Given the description of an element on the screen output the (x, y) to click on. 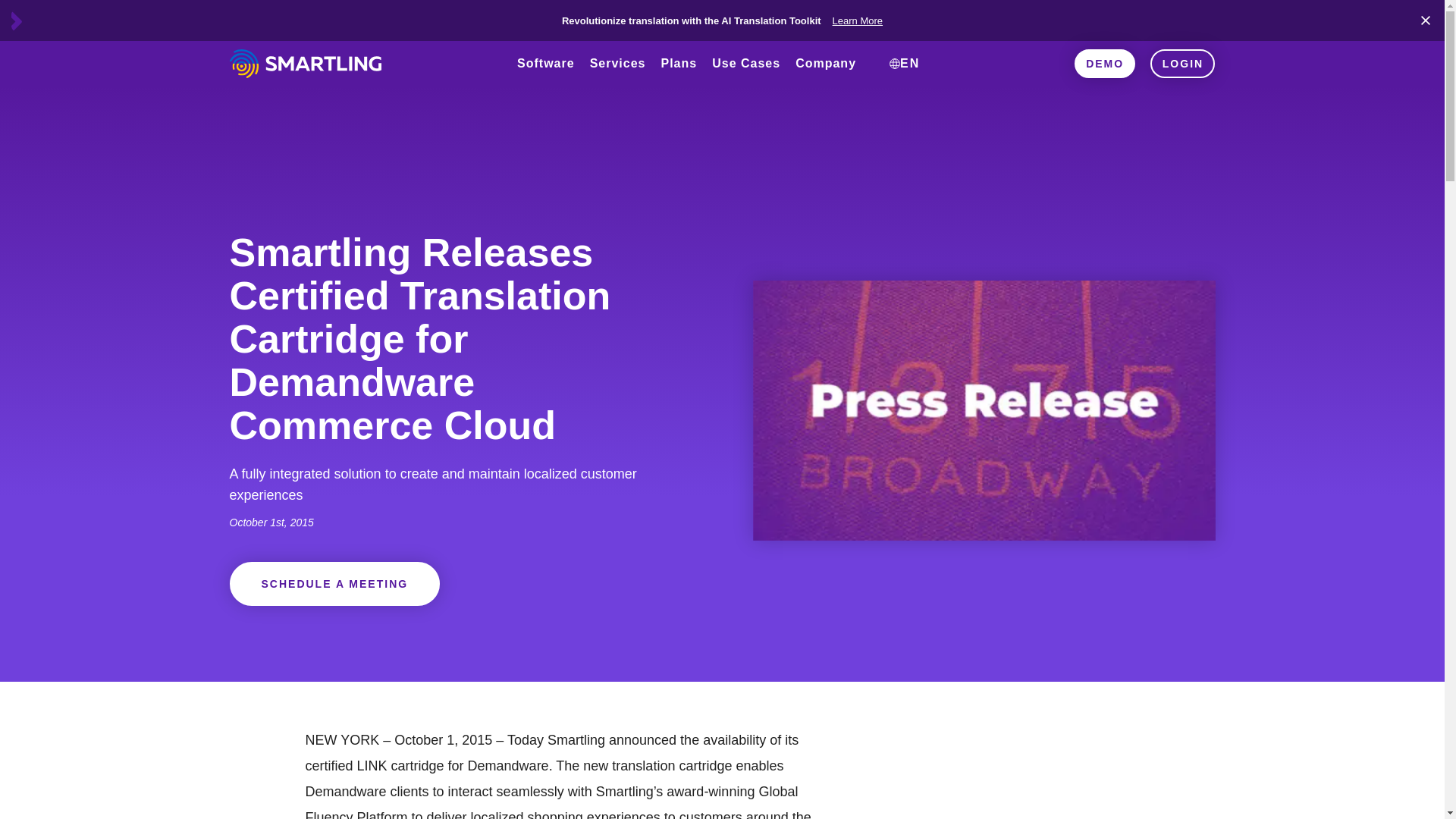
Software (545, 79)
Services (617, 79)
